Given the description of an element on the screen output the (x, y) to click on. 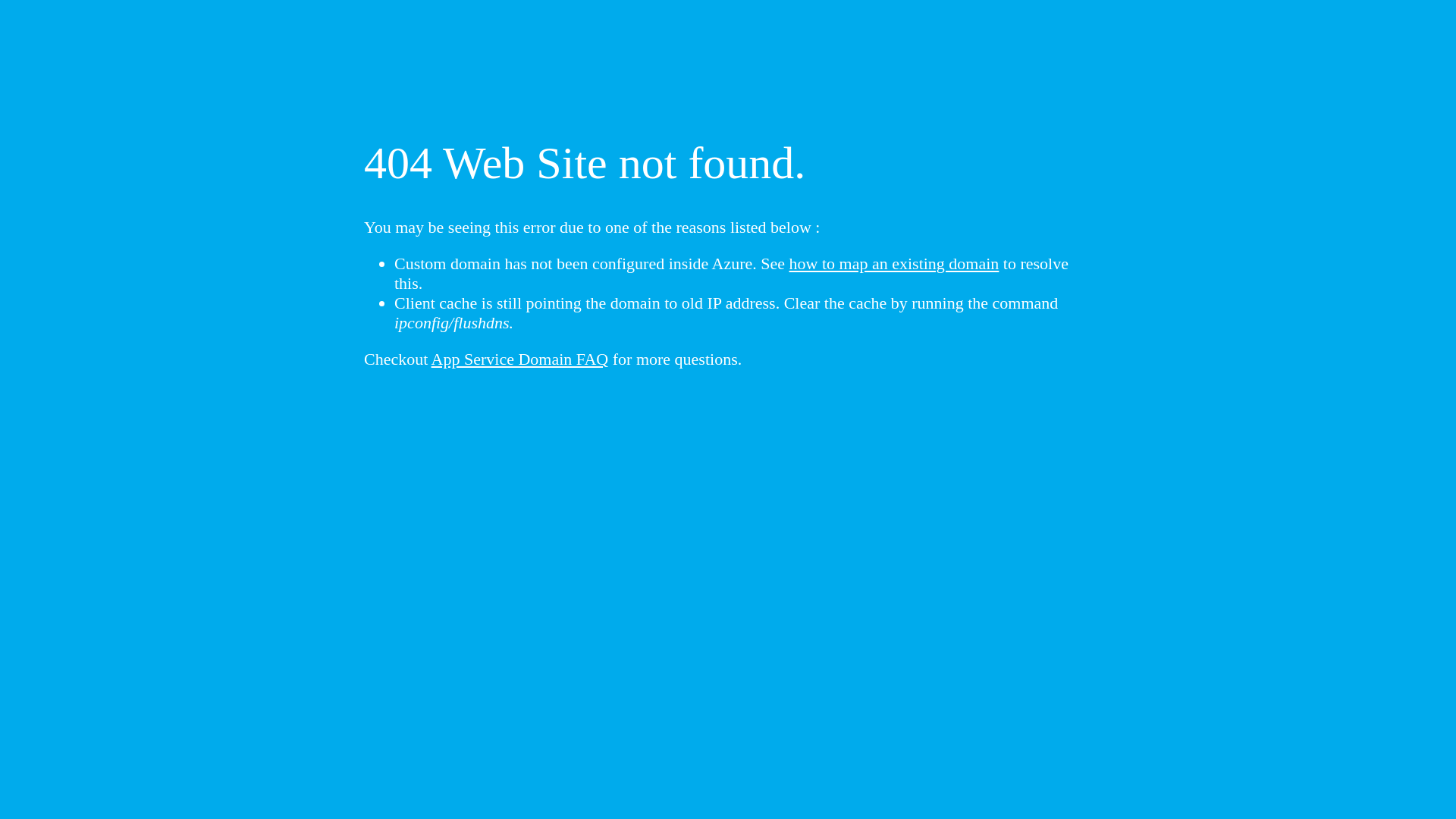
how to map an existing domain Element type: text (894, 263)
App Service Domain FAQ Element type: text (519, 358)
